Given the description of an element on the screen output the (x, y) to click on. 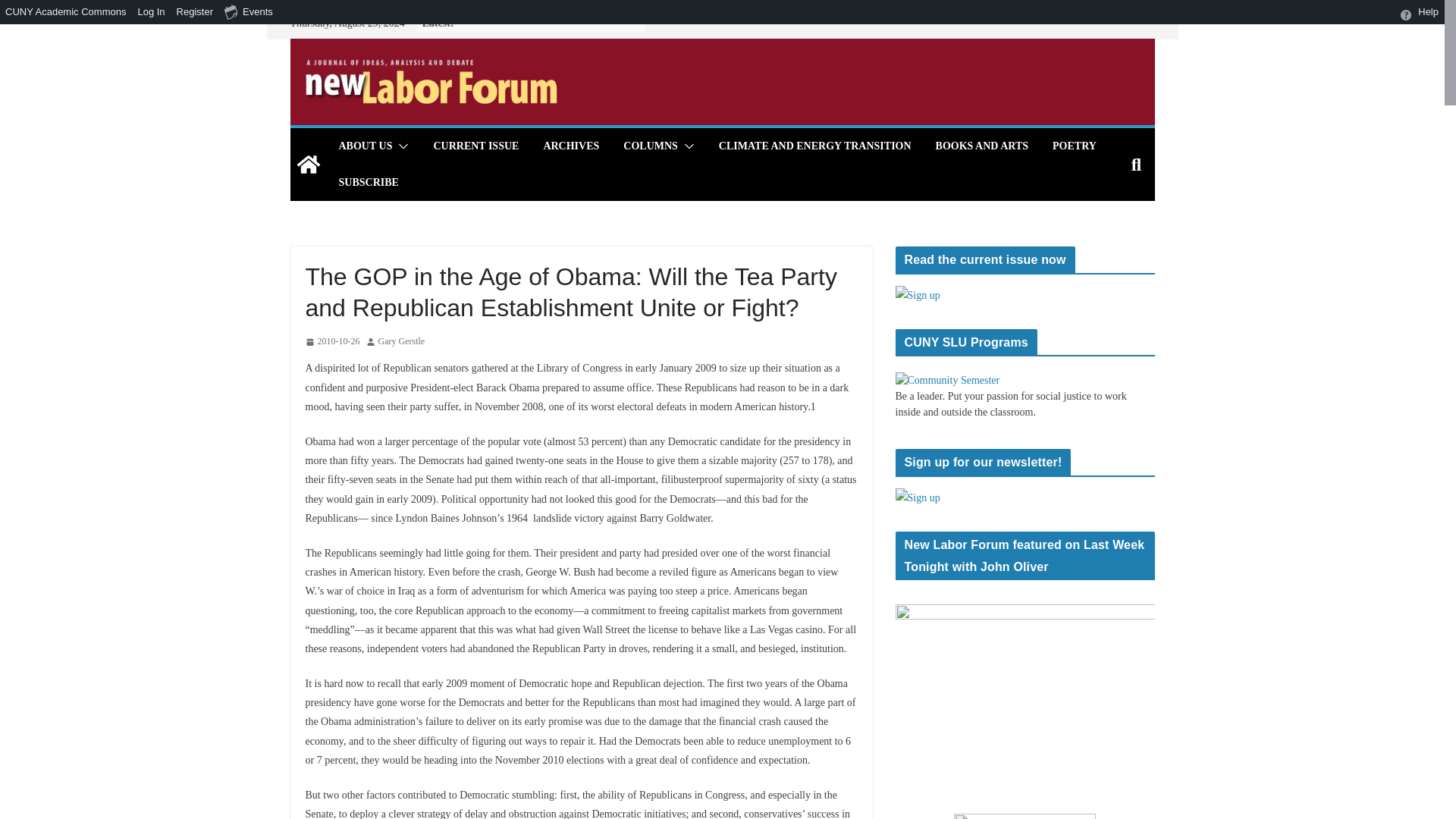
ARCHIVES (570, 146)
POETRY (1074, 146)
CUNY Academic Commons (66, 12)
CURRENT ISSUE (475, 146)
Log In (151, 12)
BOOKS AND ARTS (981, 146)
New Labor Forum (307, 164)
Gary Gerstle (401, 341)
Register (195, 12)
2:10 AM (331, 341)
